Given the description of an element on the screen output the (x, y) to click on. 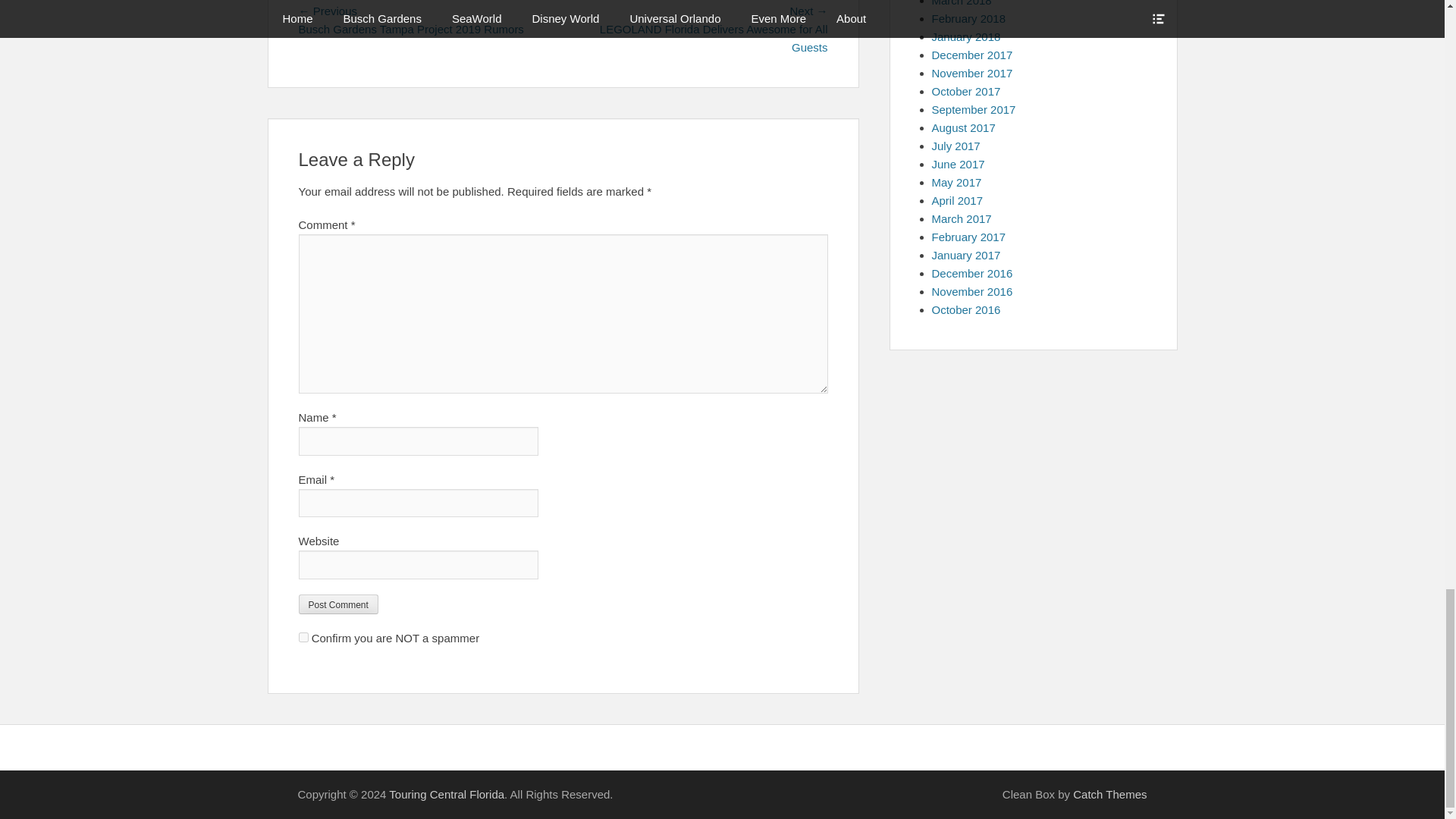
on (303, 637)
Post Comment (338, 604)
